Given the description of an element on the screen output the (x, y) to click on. 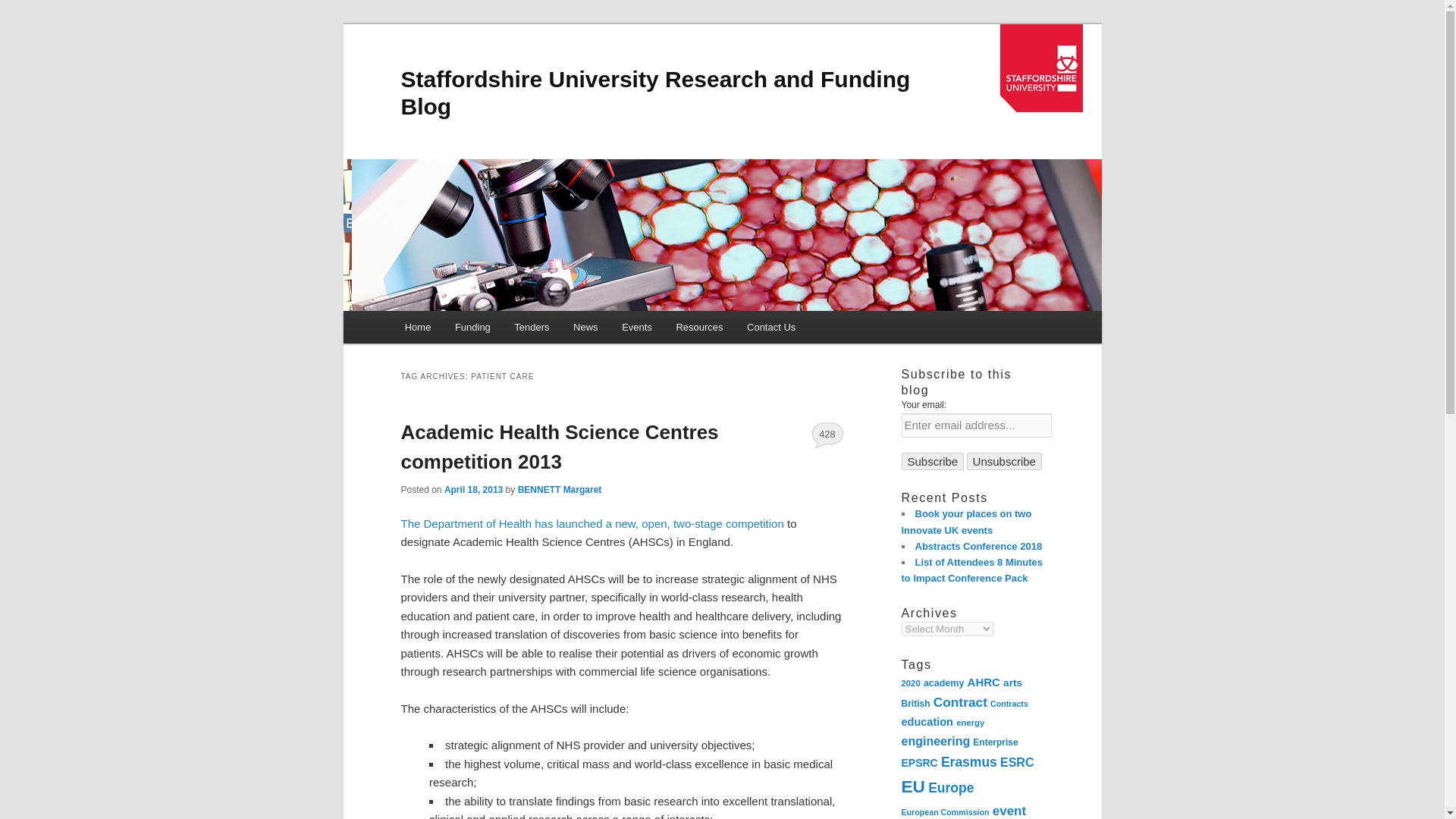
Enter email address... (976, 425)
Staffordshire University Research and Funding Blog (655, 92)
Tenders (532, 327)
Banner 4 (730, 234)
Unsubscribe (1004, 461)
Banner 5 (176, 234)
Staffordshire University Research and Funding Blog (655, 92)
Funding (472, 327)
View all posts by BENNETT Margaret (560, 489)
Contact Us (771, 327)
9:02 am (473, 489)
Subscribe (932, 461)
Resources (699, 327)
